Given the description of an element on the screen output the (x, y) to click on. 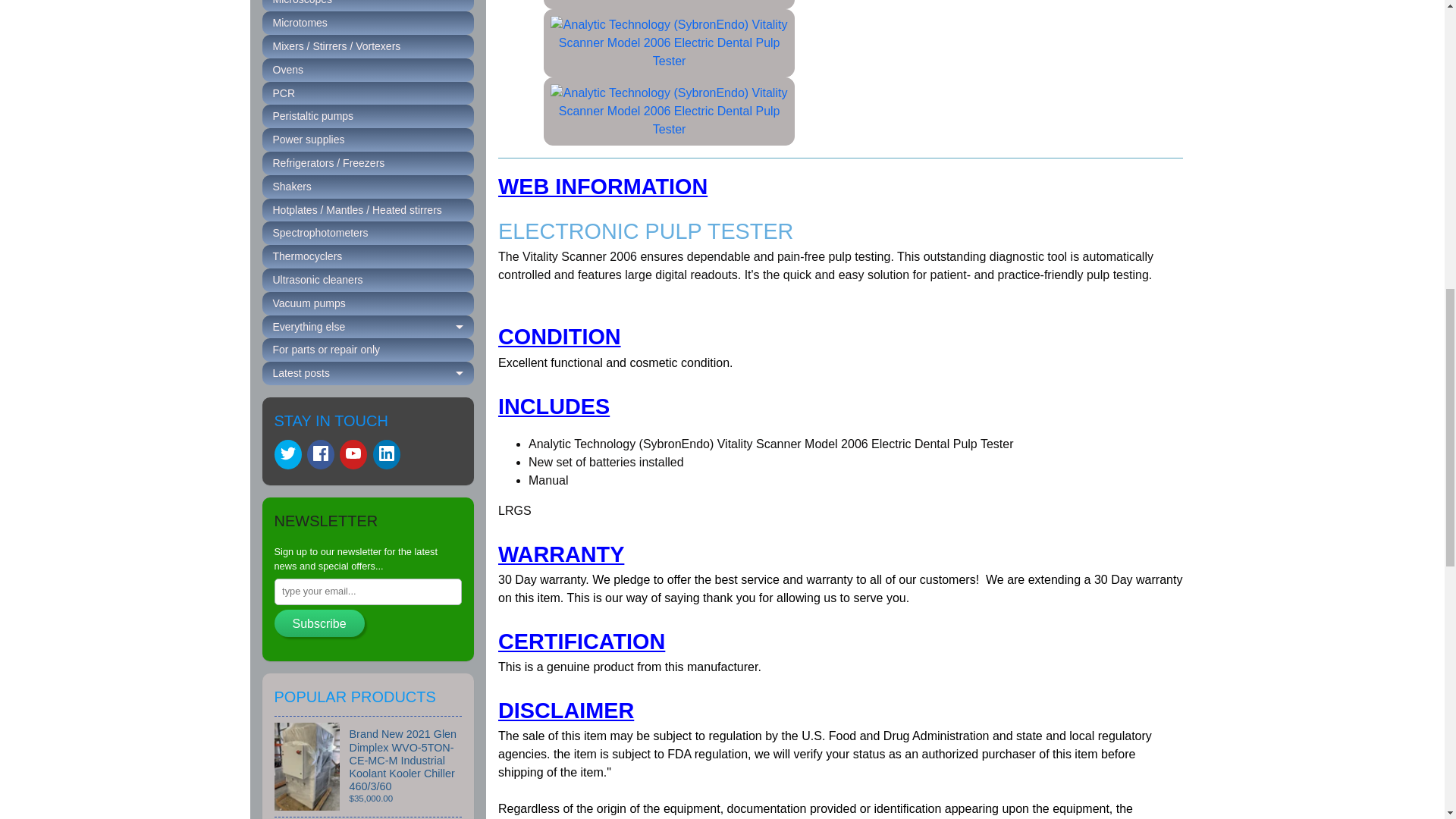
Youtube (352, 454)
LinkedIn (386, 454)
Facebook (320, 454)
Twitter (288, 454)
